Given the description of an element on the screen output the (x, y) to click on. 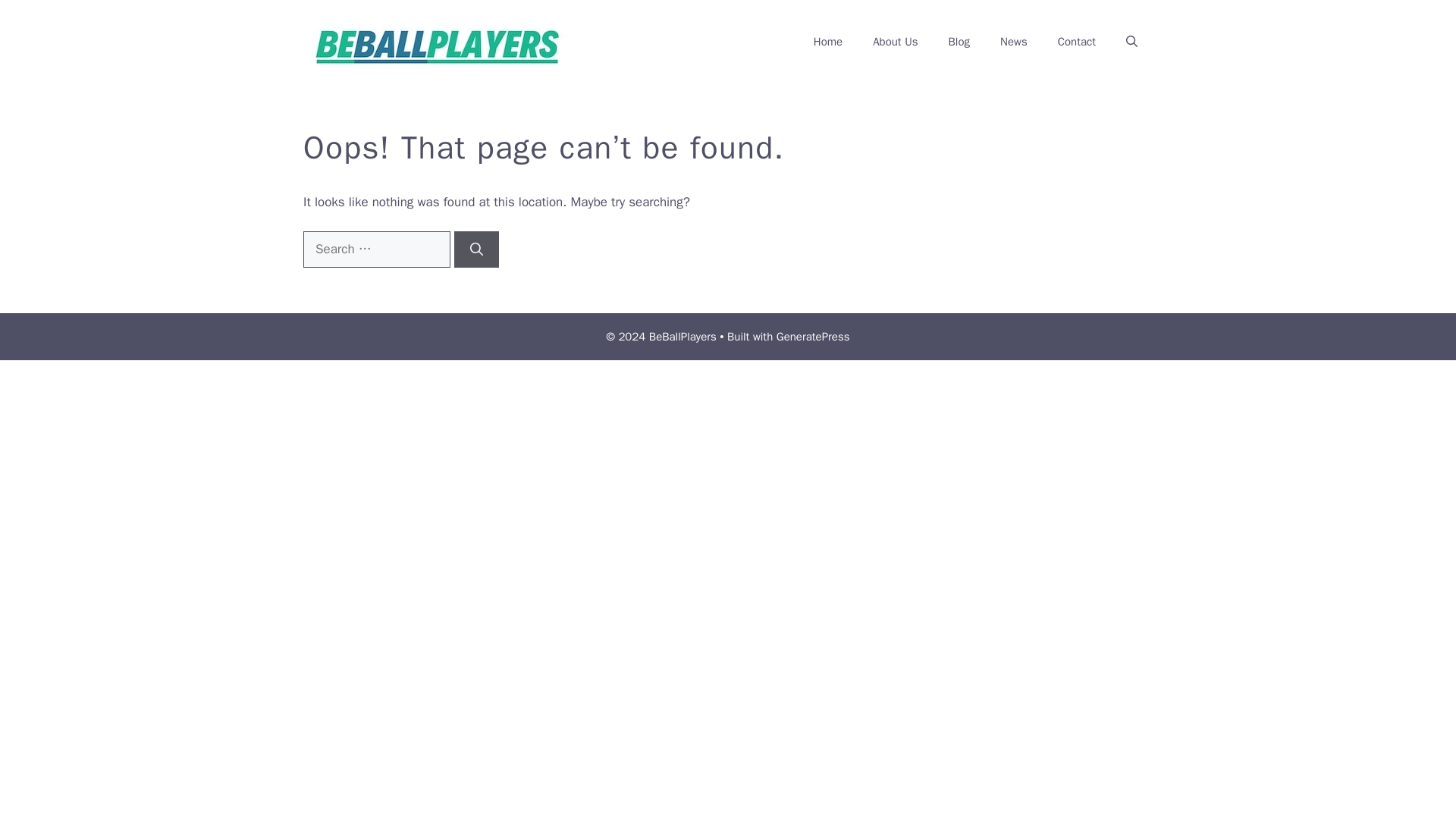
Contact (1076, 41)
Home (827, 41)
Search for: (375, 248)
GeneratePress (813, 336)
News (1013, 41)
About Us (895, 41)
Blog (959, 41)
